Given the description of an element on the screen output the (x, y) to click on. 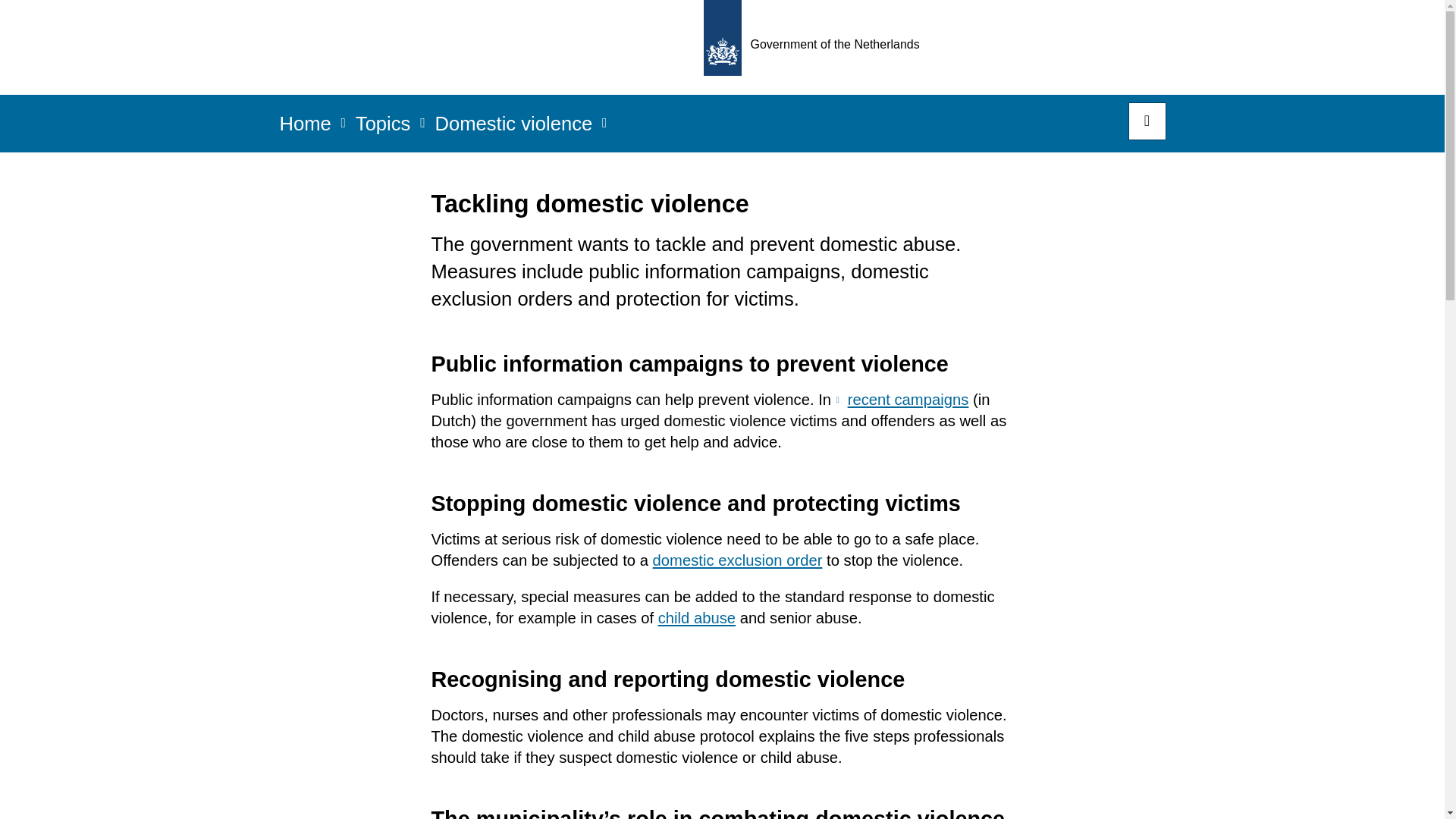
recent campaigns (902, 399)
Topics (382, 128)
Government of the Netherlands (815, 47)
child abuse (696, 617)
Domestic violence (512, 128)
Search (1146, 121)
Start search (1146, 121)
Send (29, 21)
Home (304, 128)
domestic exclusion order (737, 560)
